Given the description of an element on the screen output the (x, y) to click on. 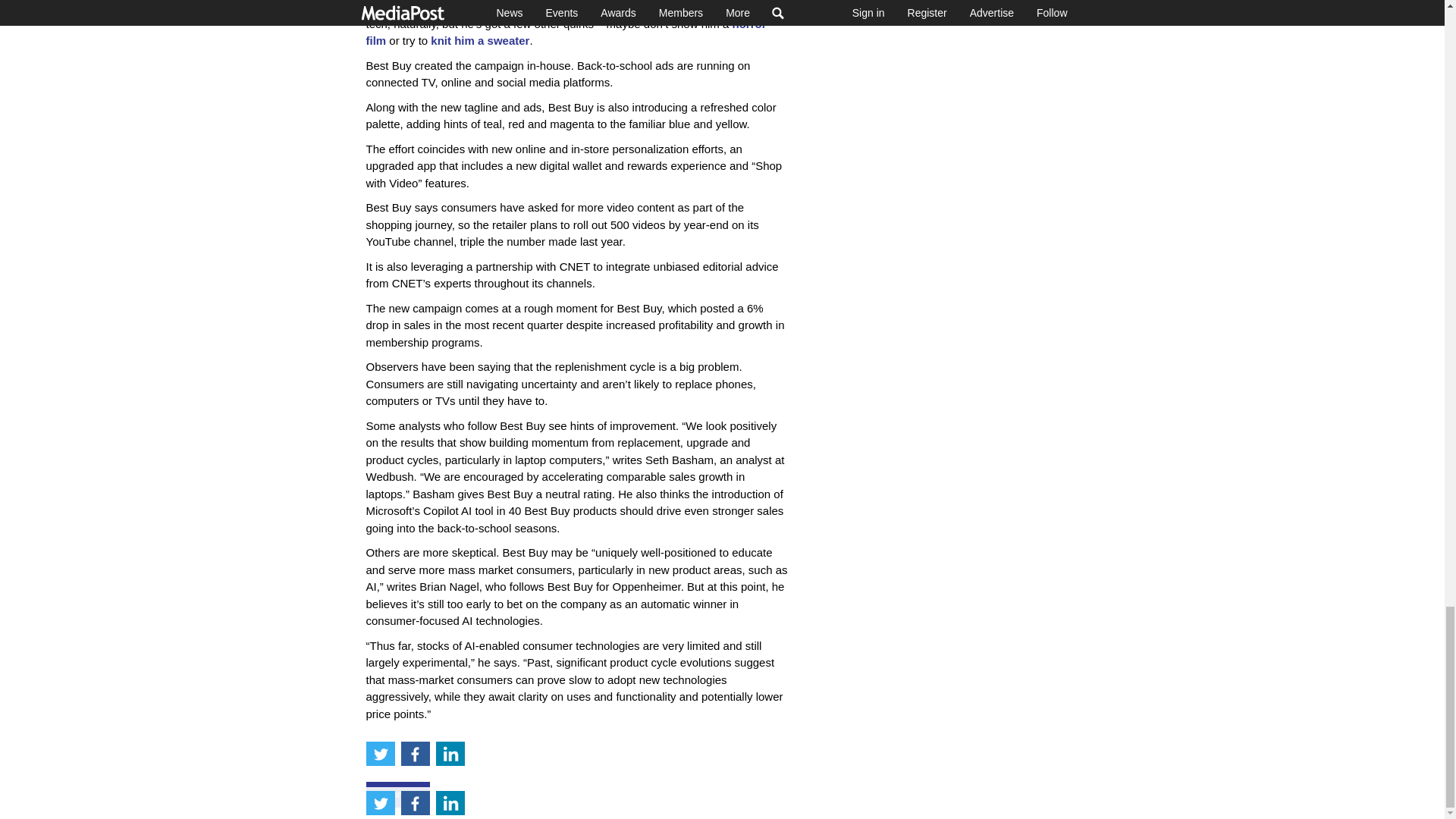
Share on Twitter (379, 753)
Share on LinkedIn (449, 753)
Share on Facebook (414, 753)
